Given the description of an element on the screen output the (x, y) to click on. 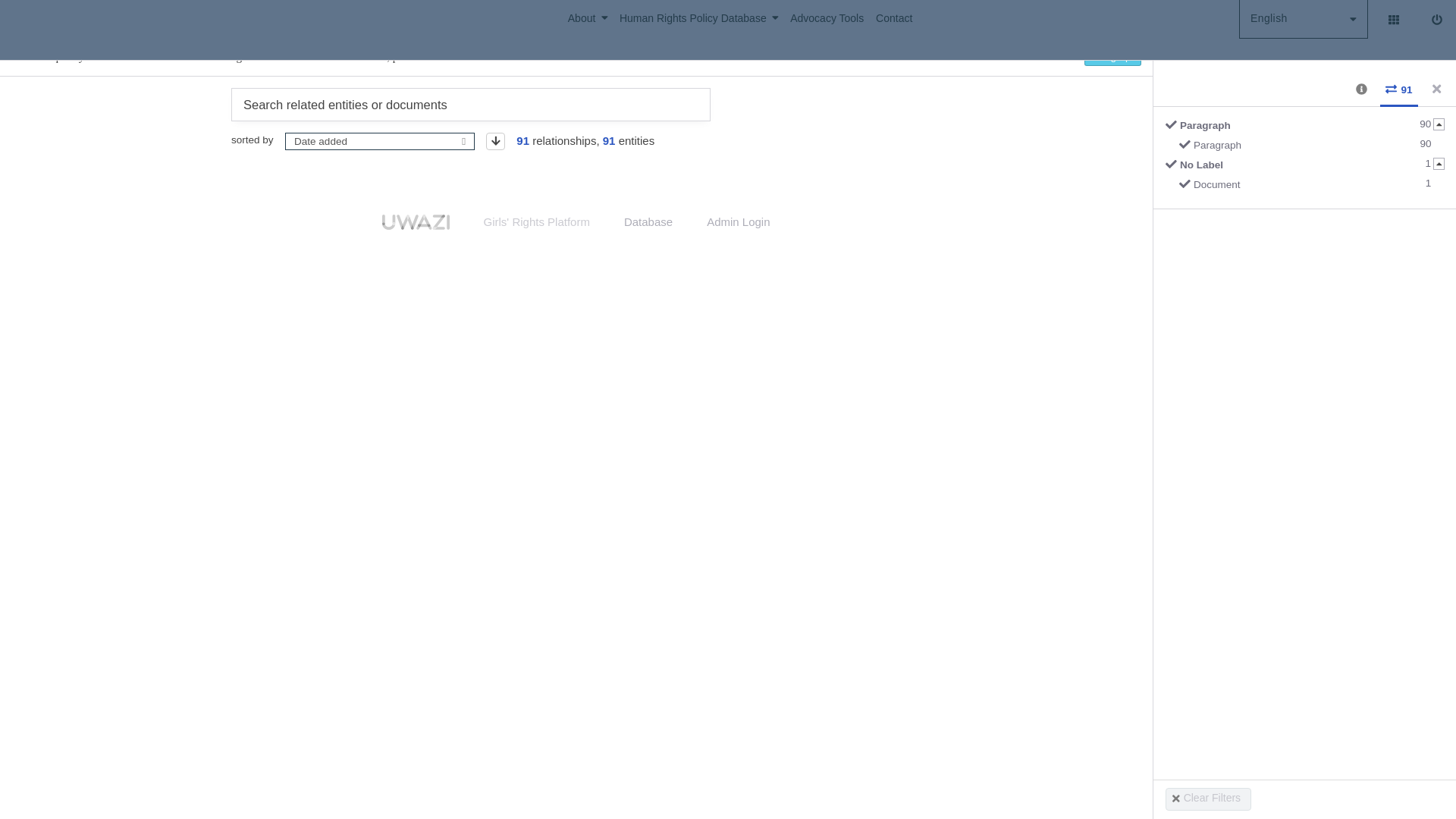
Paragraph (1310, 148)
Database (648, 221)
open dropdown (464, 141)
About  (593, 18)
Human Rights Policy Database  (705, 18)
Advocacy Tools (832, 18)
91 (1399, 89)
Admin Login (738, 221)
uwazi (414, 222)
Clear Filters (1208, 798)
Contact (893, 18)
Document (1310, 187)
